Given the description of an element on the screen output the (x, y) to click on. 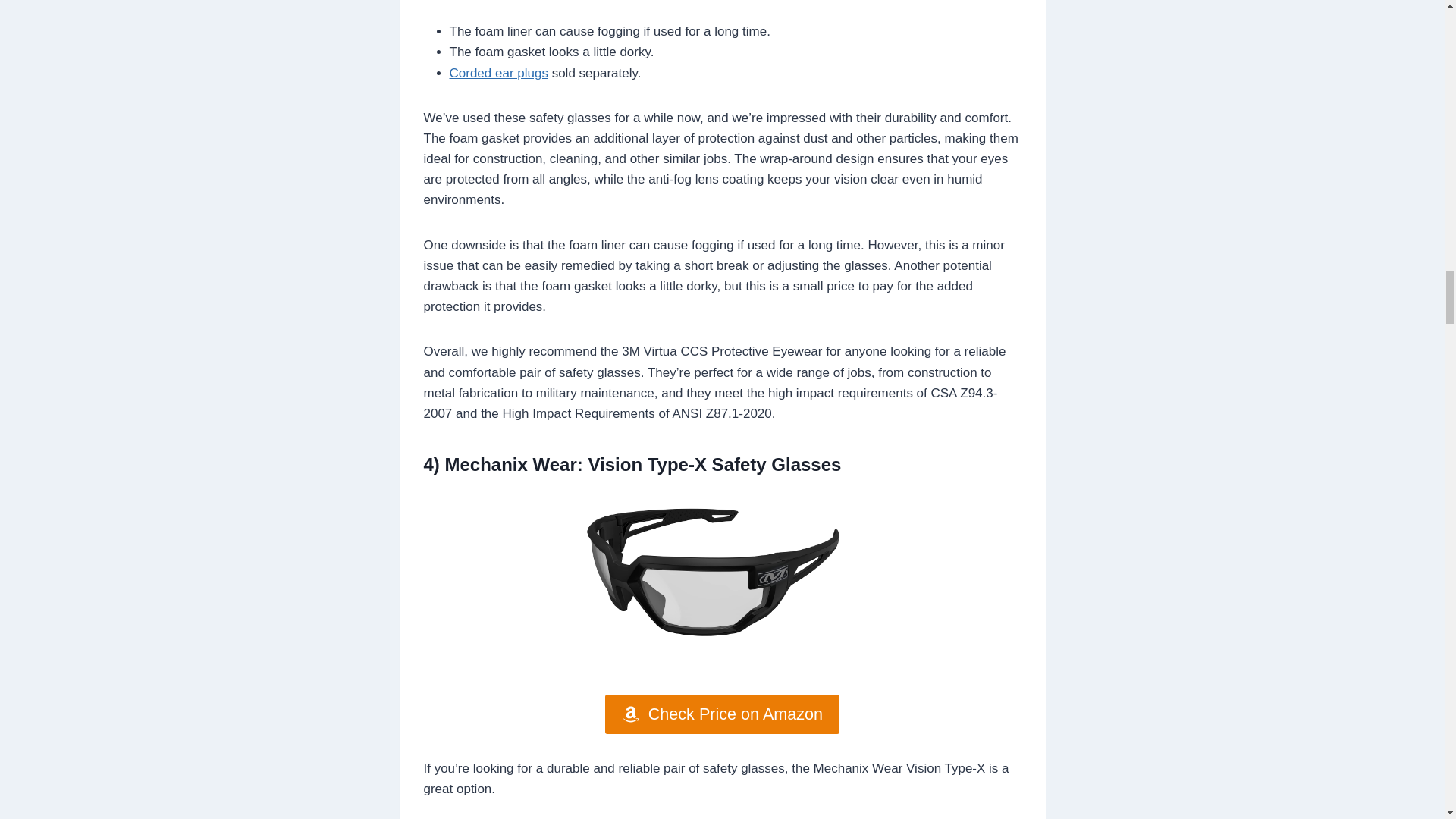
Check Price on Amazon (721, 713)
Corded ear plugs (497, 73)
Mechanix Wear: Vision Type-X Safety Glasses (643, 464)
